Given the description of an element on the screen output the (x, y) to click on. 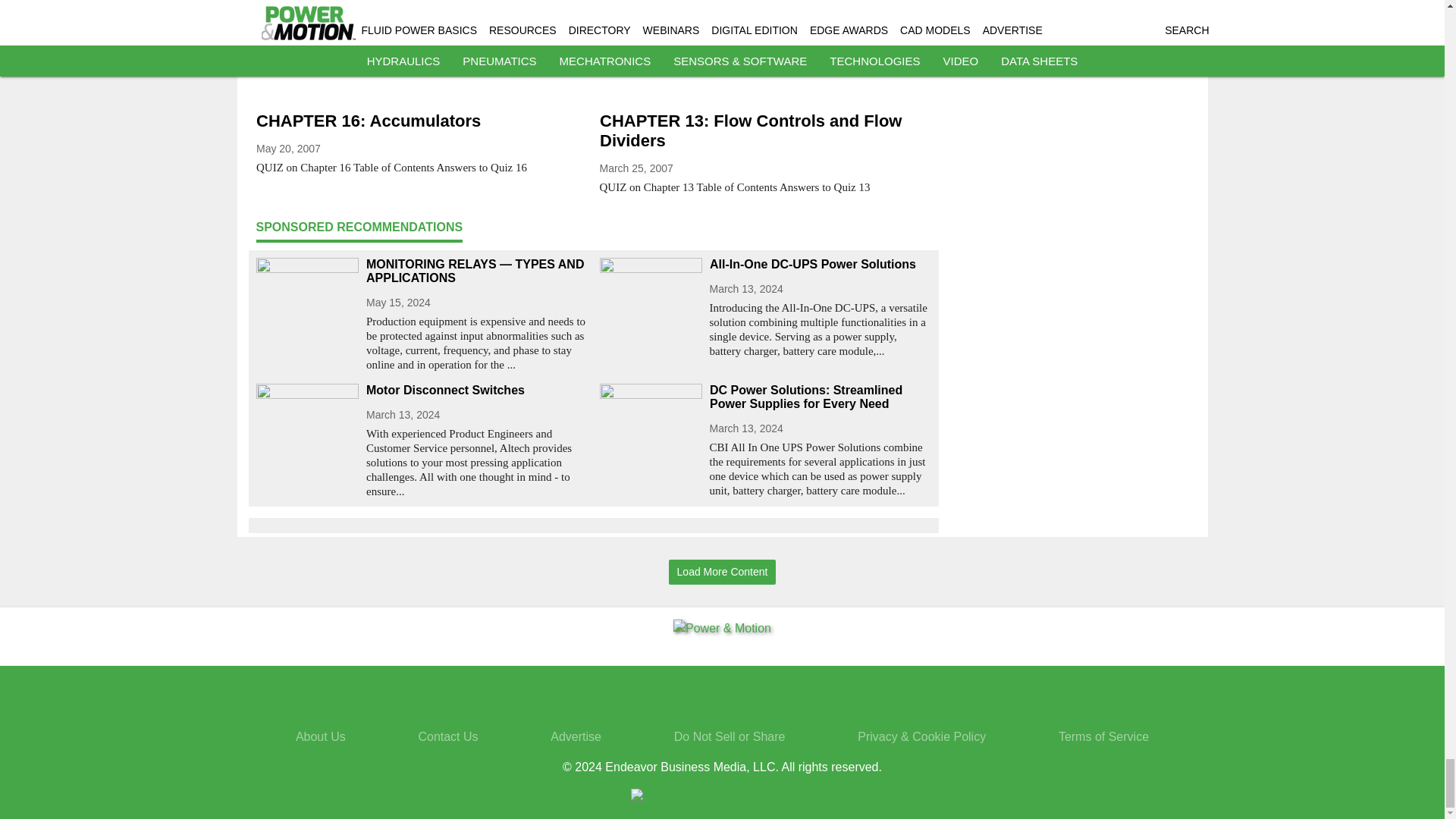
All-In-One DC-UPS Power Solutions (820, 264)
Motor Disconnect Switches (476, 390)
CHAPTER 16: Accumulators (422, 121)
CHAPTER 13: Flow Controls and Flow Dividers (764, 130)
